Given the description of an element on the screen output the (x, y) to click on. 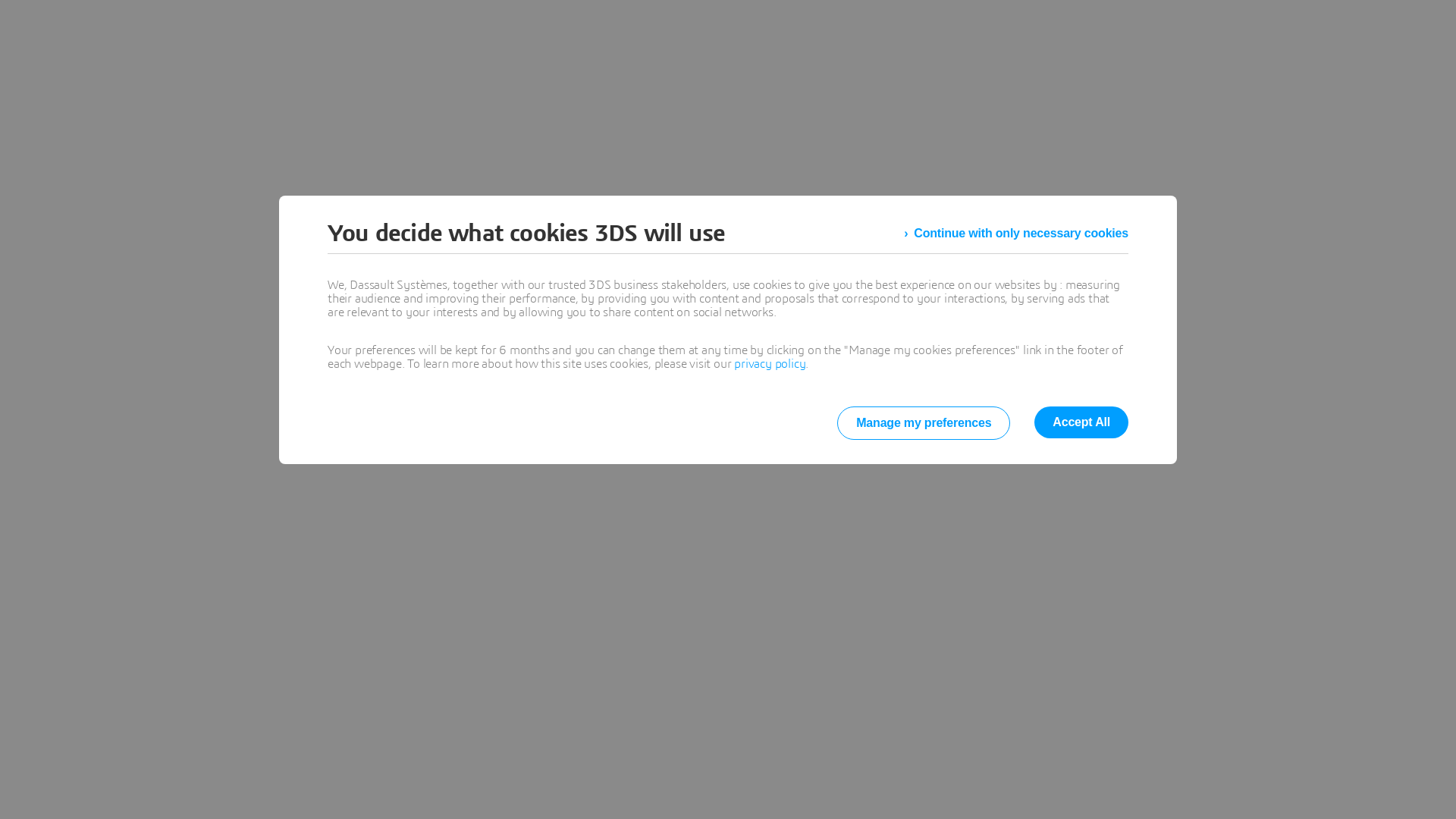
Manage my preferences Element type: text (923, 422)
Continue with only necessary cookies Element type: text (1015, 233)
privacy policy Element type: text (769, 363)
Accept All Element type: text (1081, 422)
